Given the description of an element on the screen output the (x, y) to click on. 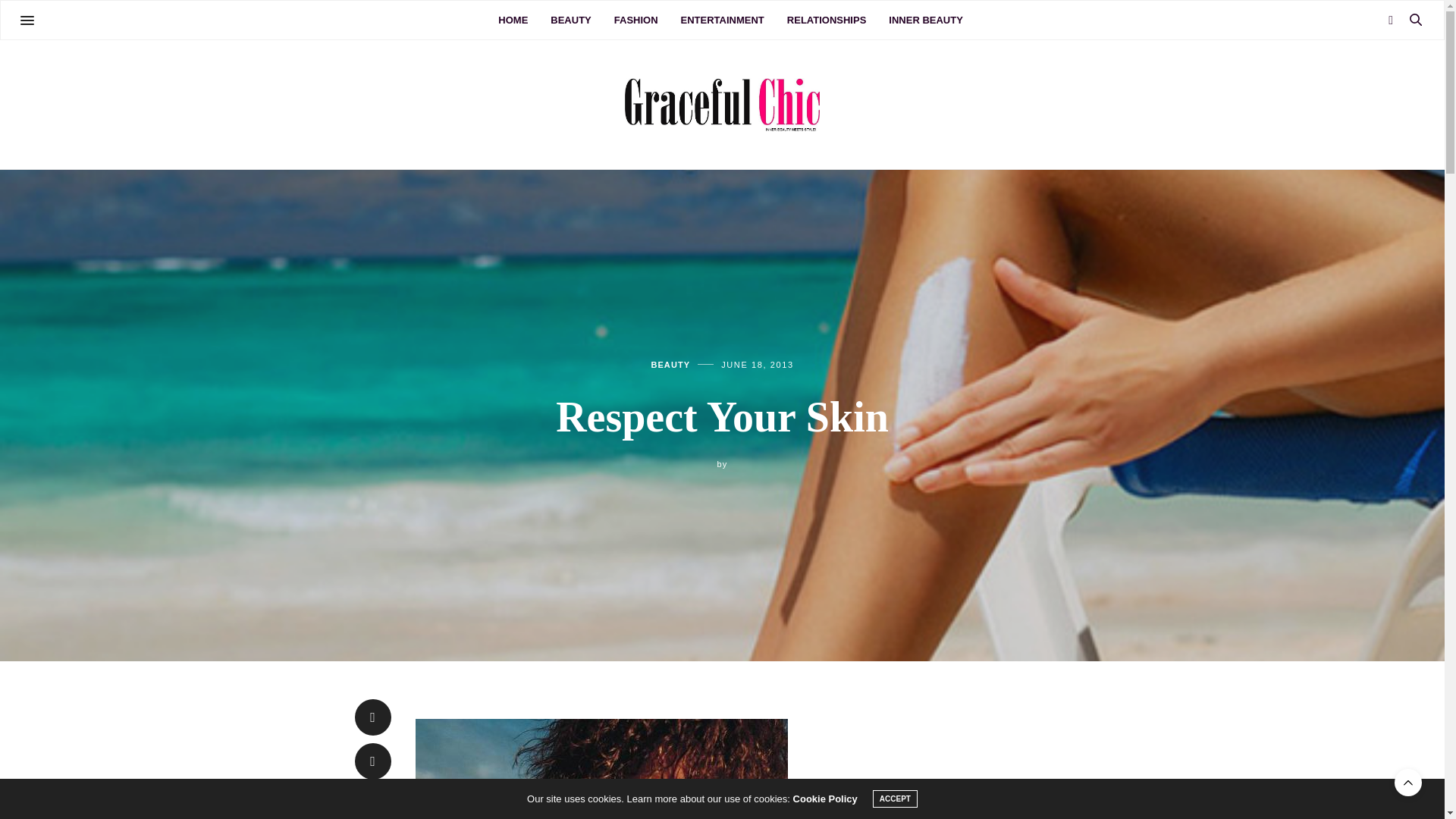
BEAUTY (670, 365)
BEAUTY (570, 19)
ENTERTAINMENT (722, 19)
Graceful Chic (721, 104)
INNER BEAUTY (925, 19)
Scroll To Top (1408, 782)
RELATIONSHIPS (826, 19)
FASHION (636, 19)
